Given the description of an element on the screen output the (x, y) to click on. 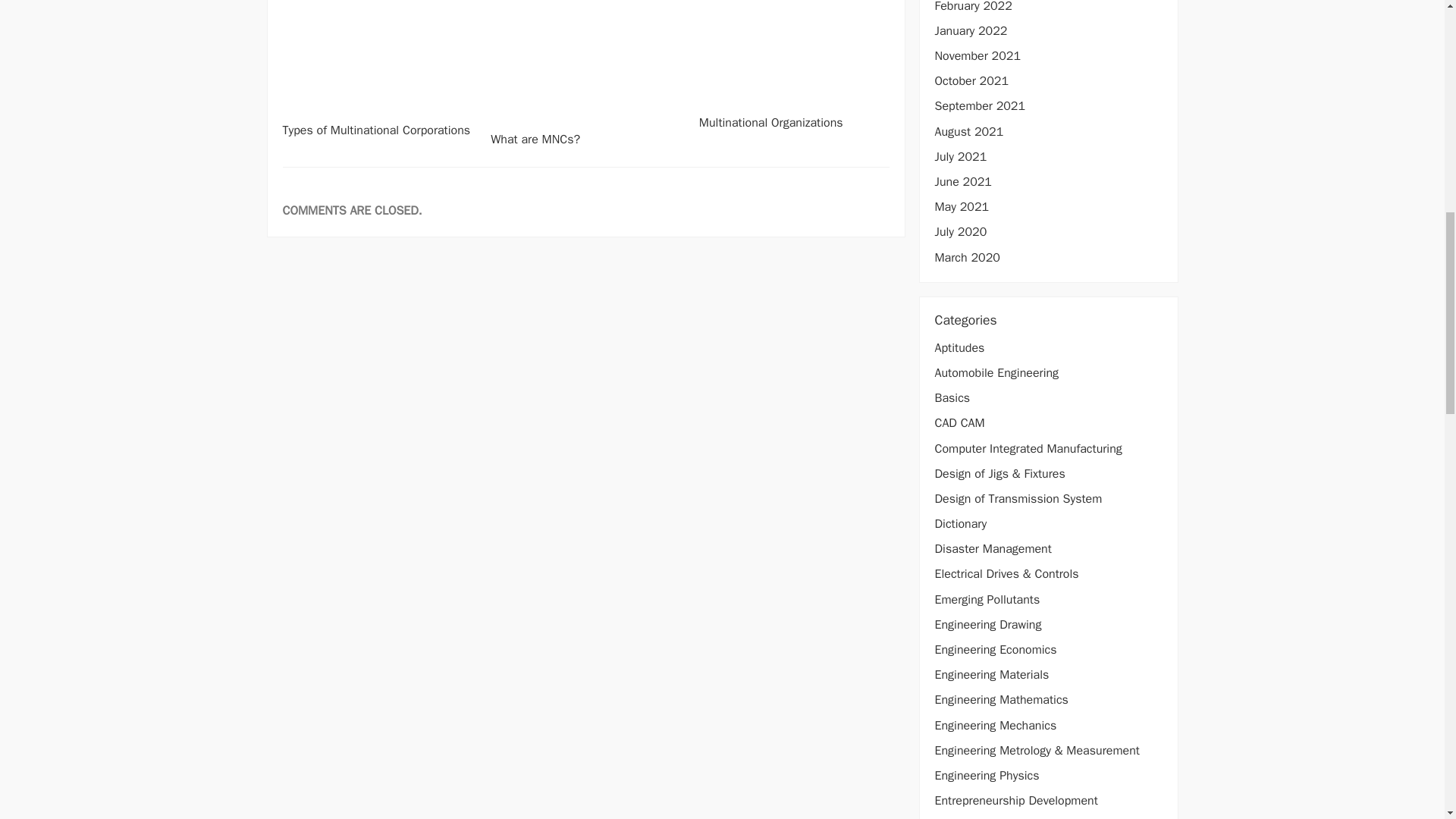
What are MNCs? (534, 139)
Types of Multinational Corporations (376, 130)
Multinational Organizations (770, 122)
